Given the description of an element on the screen output the (x, y) to click on. 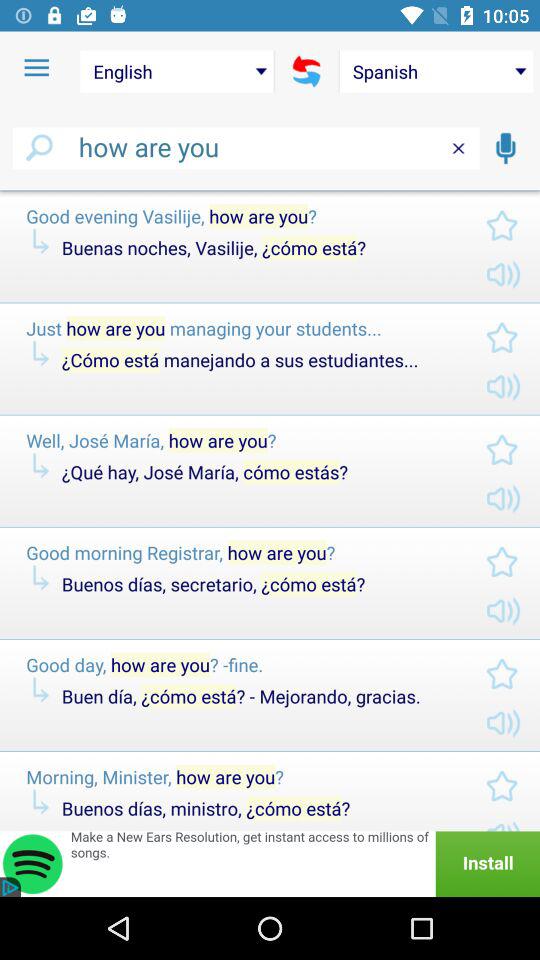
select the second drop down next to the reload button (436, 71)
click on the voice search symbol (505, 148)
select volume icon in the first text box (487, 275)
